Given the description of an element on the screen output the (x, y) to click on. 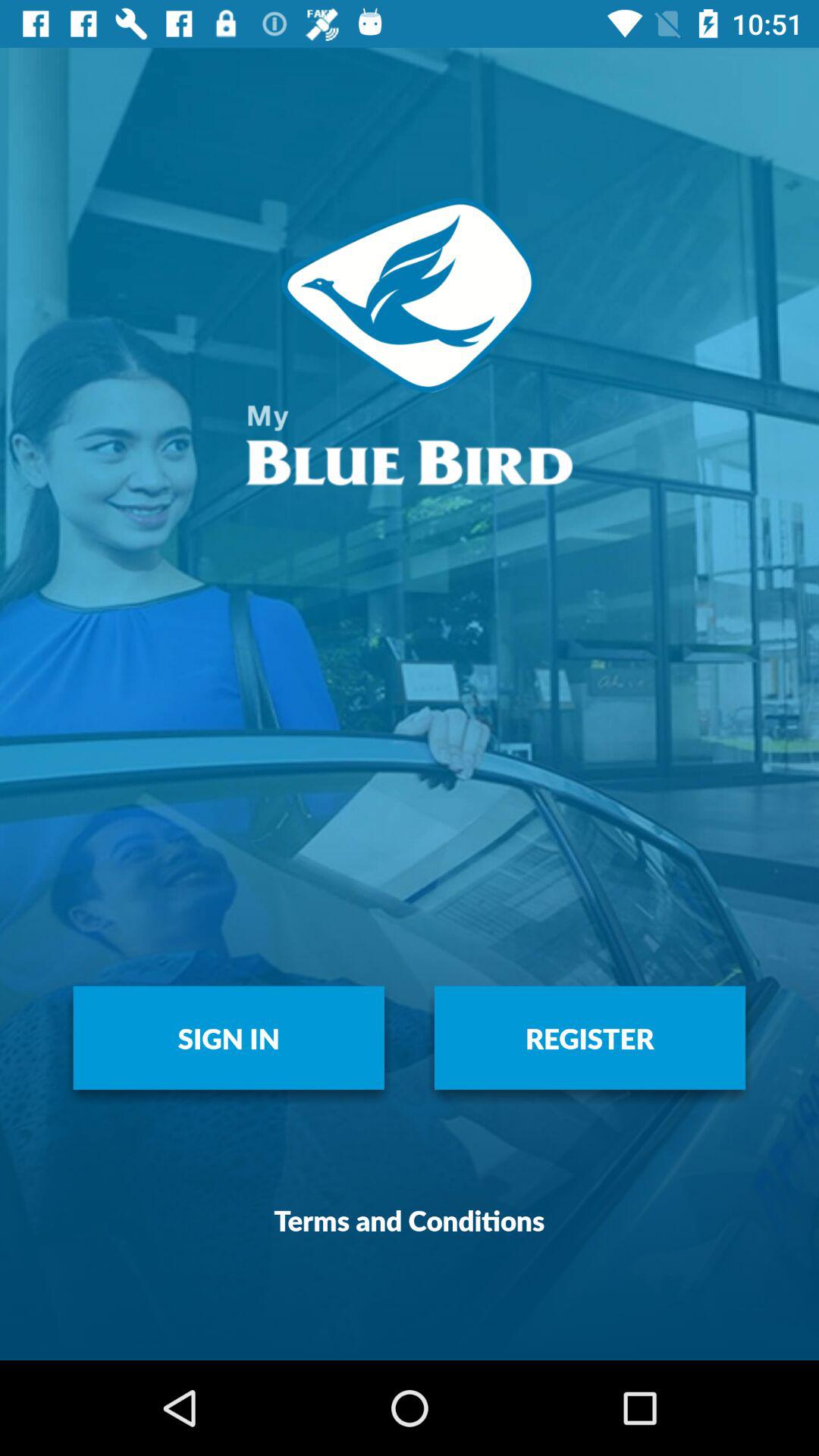
jump until the sign in (228, 1037)
